Given the description of an element on the screen output the (x, y) to click on. 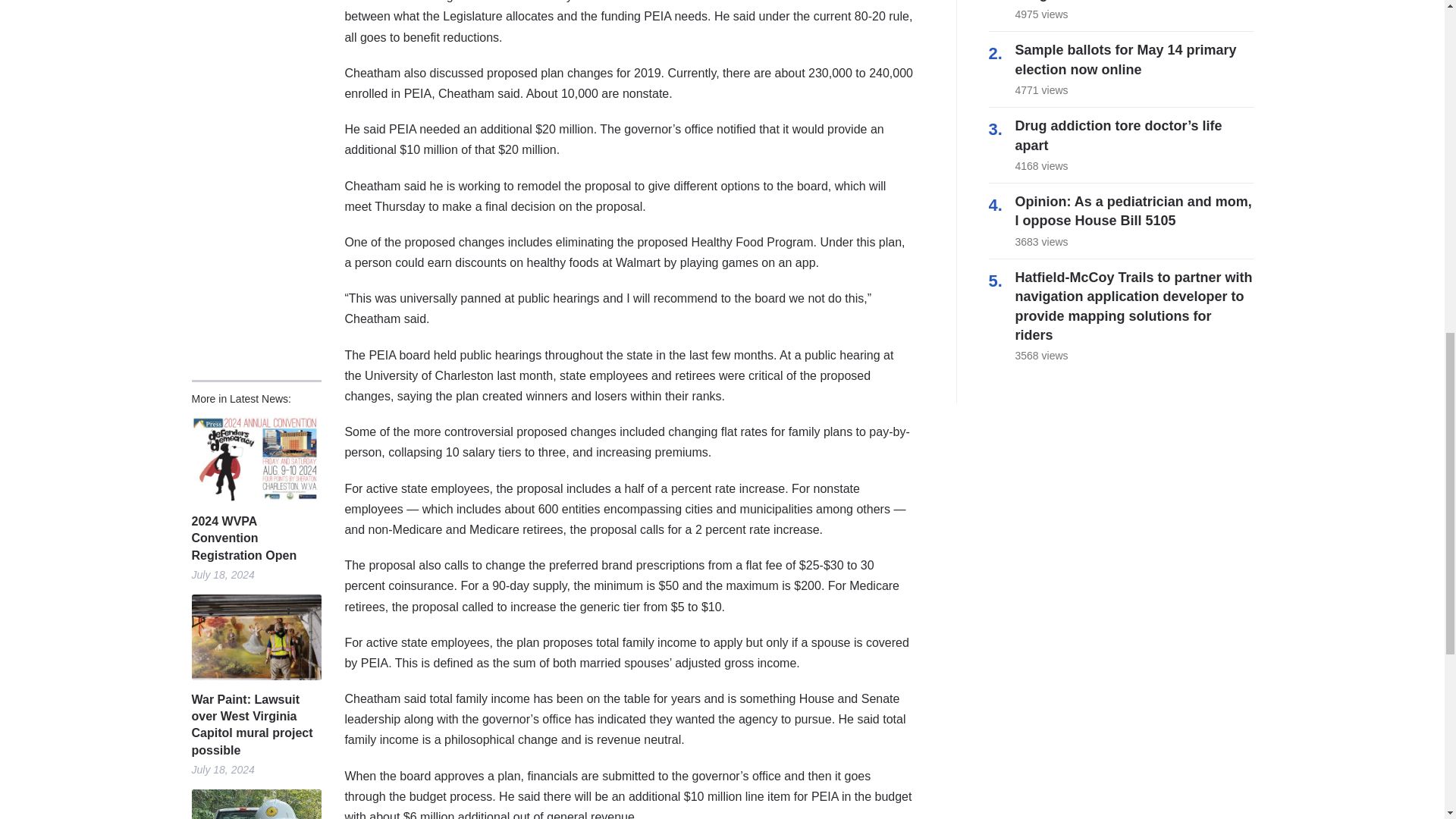
Permalink to 2024 WVPA Convention Registration Open (255, 459)
Permalink to 2024 WVPA Convention Registration Open (255, 538)
Permalink to Witsberger named Cass Superintendent (255, 804)
